Given the description of an element on the screen output the (x, y) to click on. 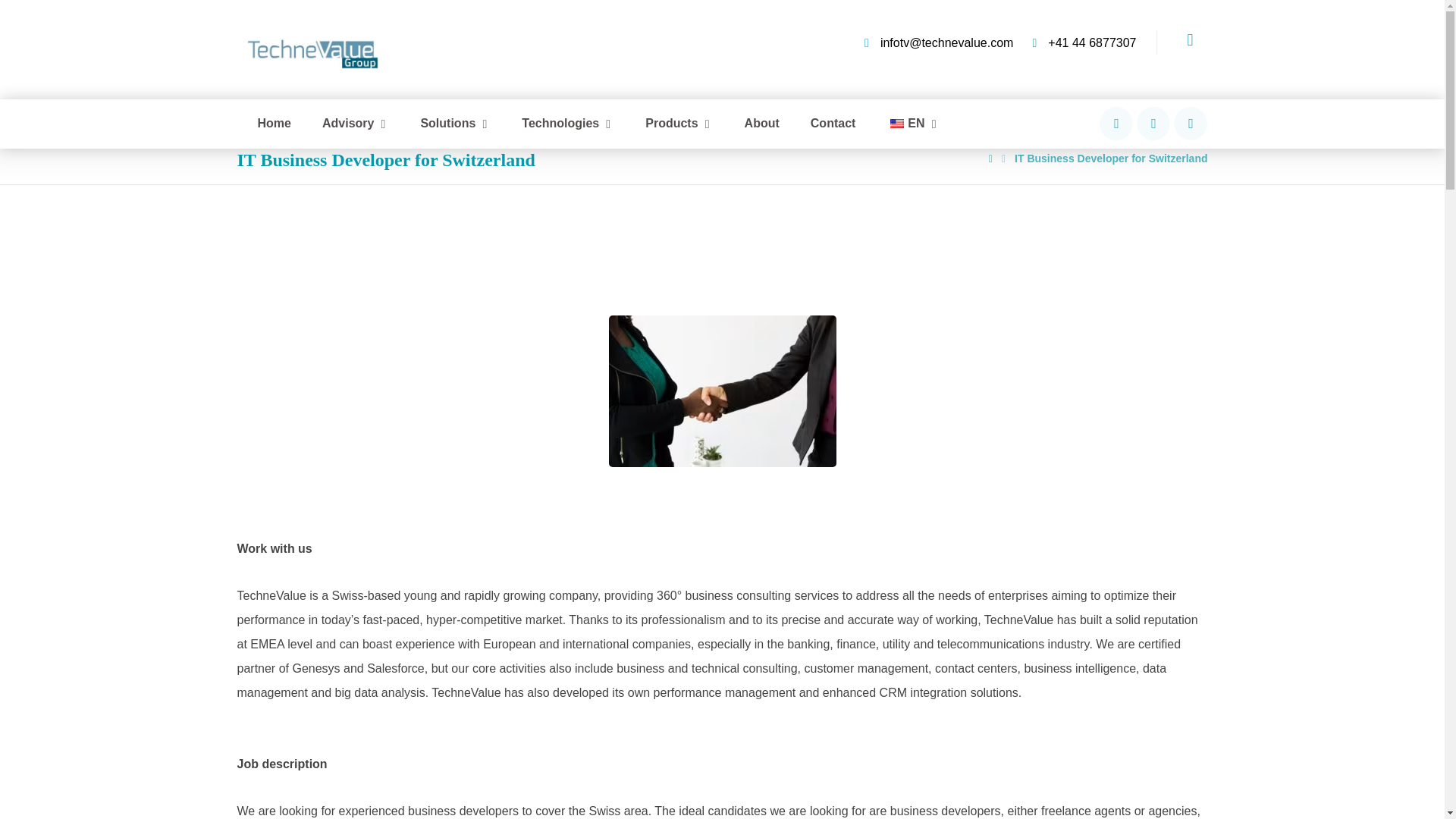
EN (912, 123)
About (762, 123)
Contact (833, 123)
English (896, 122)
Solutions (455, 123)
TechneValue Group (311, 53)
Products (678, 123)
Technologies (567, 123)
Home (273, 123)
Advisory (354, 123)
